Given the description of an element on the screen output the (x, y) to click on. 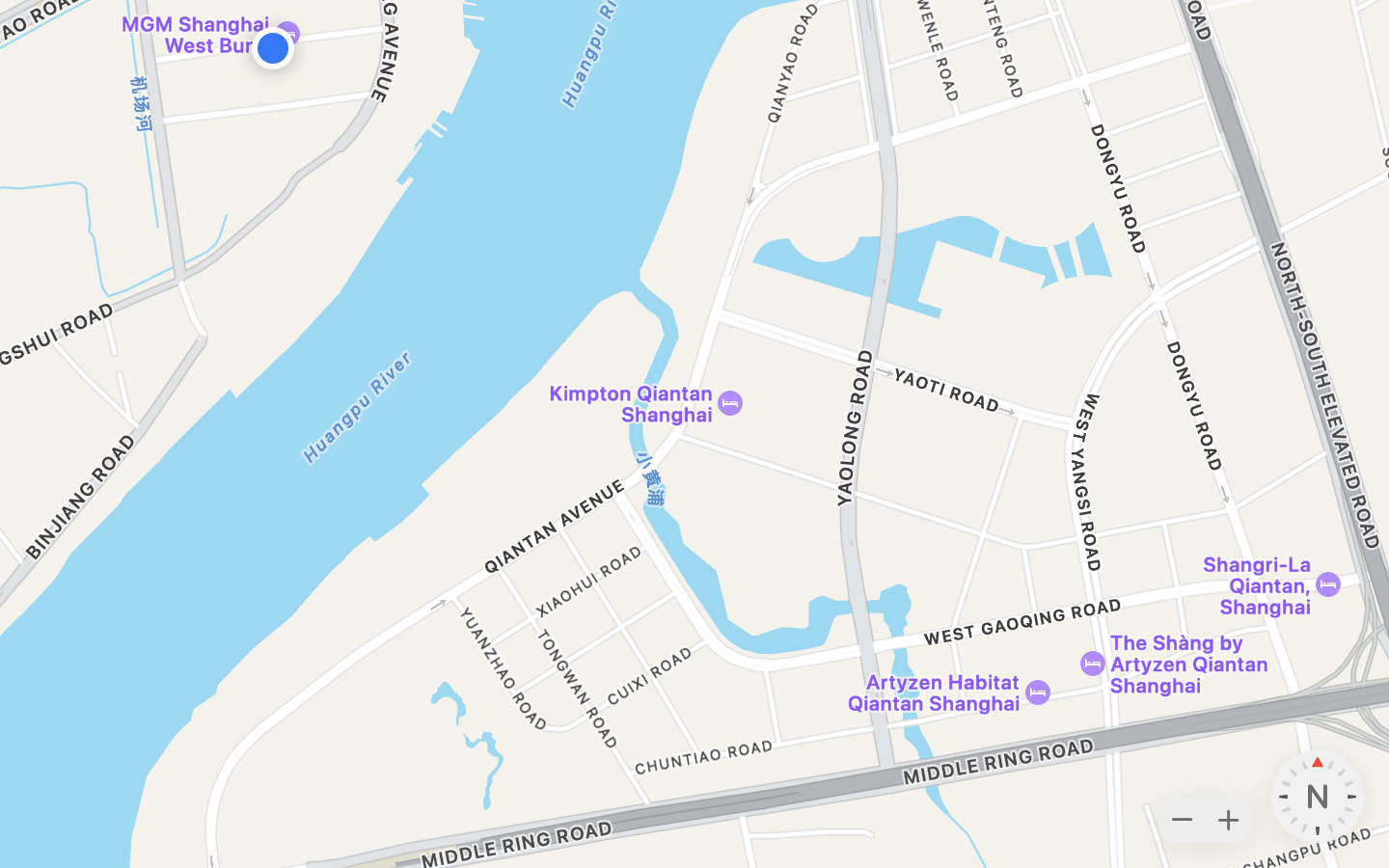
Heading: 0 degrees North Element type: AXButton (1317, 796)
